Given the description of an element on the screen output the (x, y) to click on. 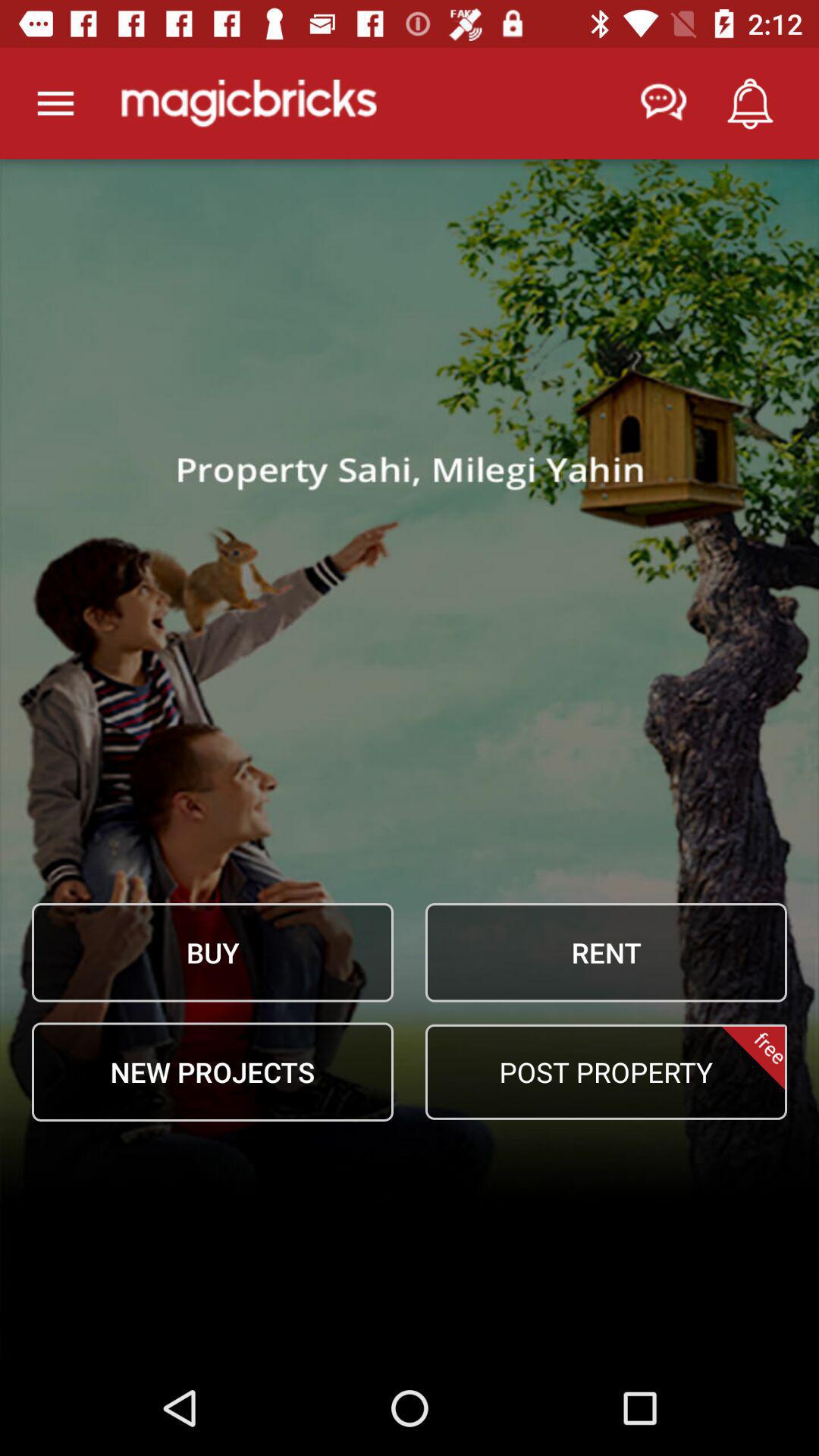
turn on item to the right of the buy icon (606, 952)
